Given the description of an element on the screen output the (x, y) to click on. 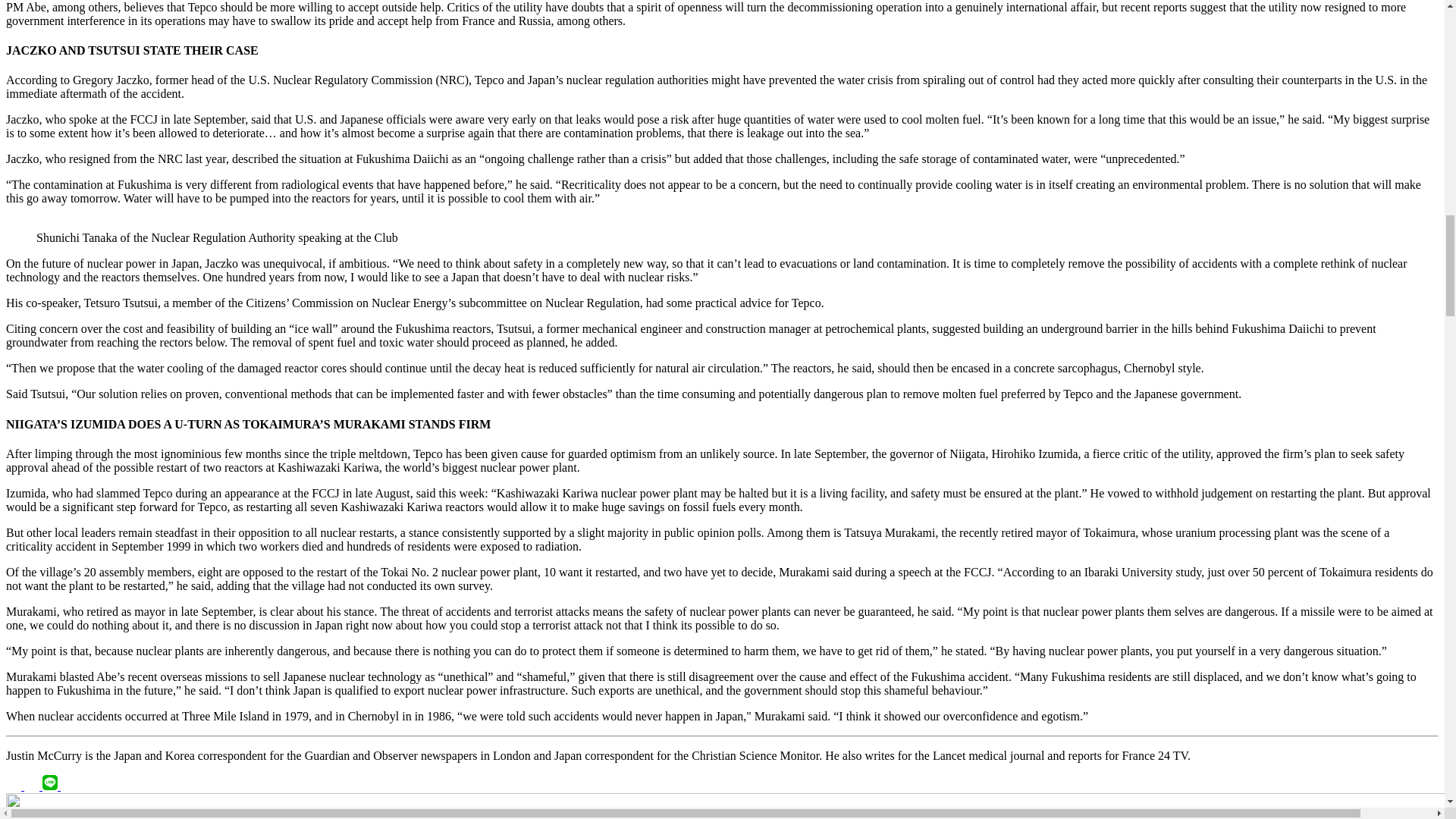
Share to E-mail (68, 785)
Share to Line (51, 785)
Share to Facebook (14, 785)
Share to Linkedin (33, 785)
